Given the description of an element on the screen output the (x, y) to click on. 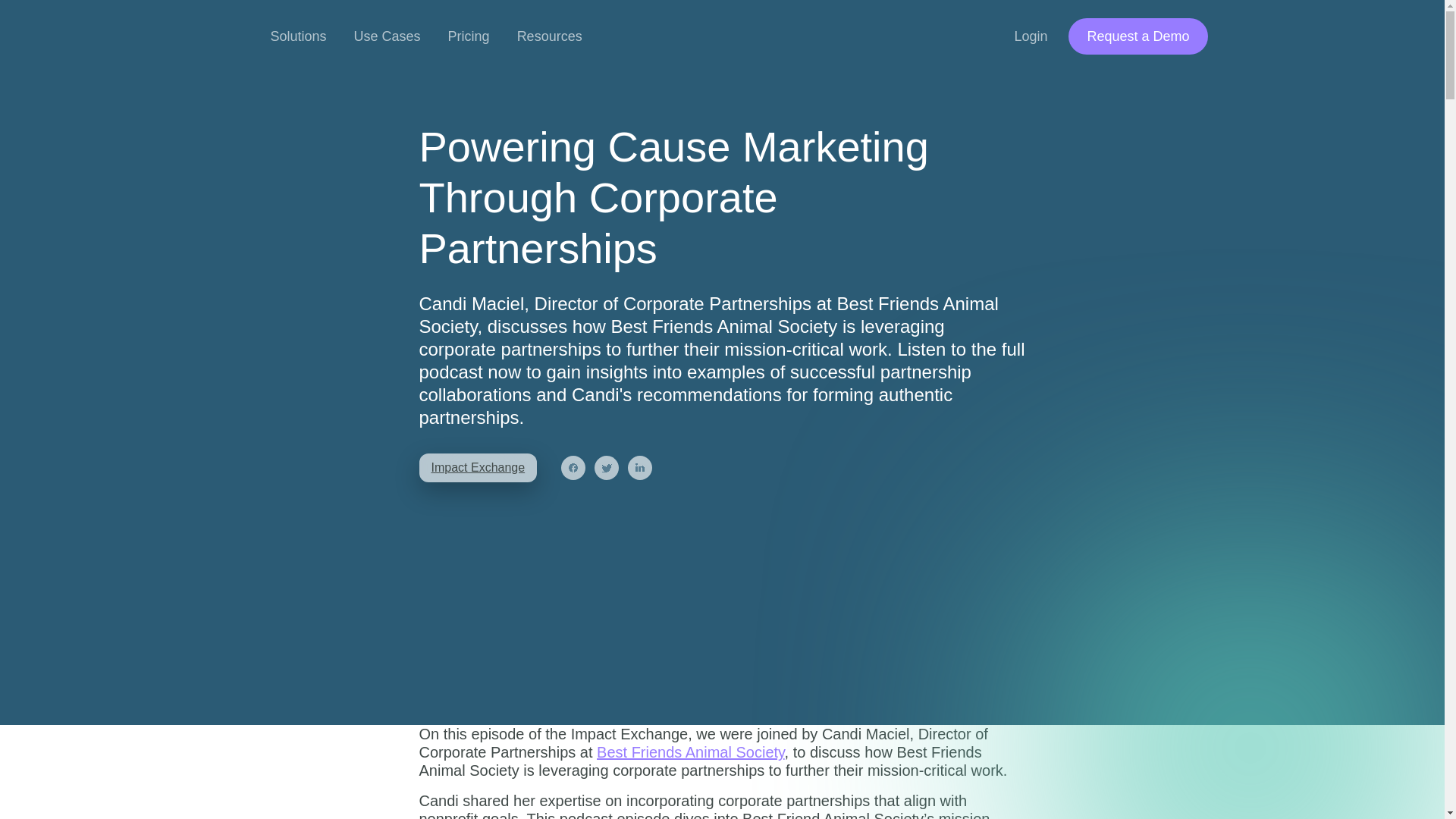
Impact Exchange (478, 467)
Login (1030, 36)
Request a Demo (1137, 36)
Pricing (468, 36)
